Given the description of an element on the screen output the (x, y) to click on. 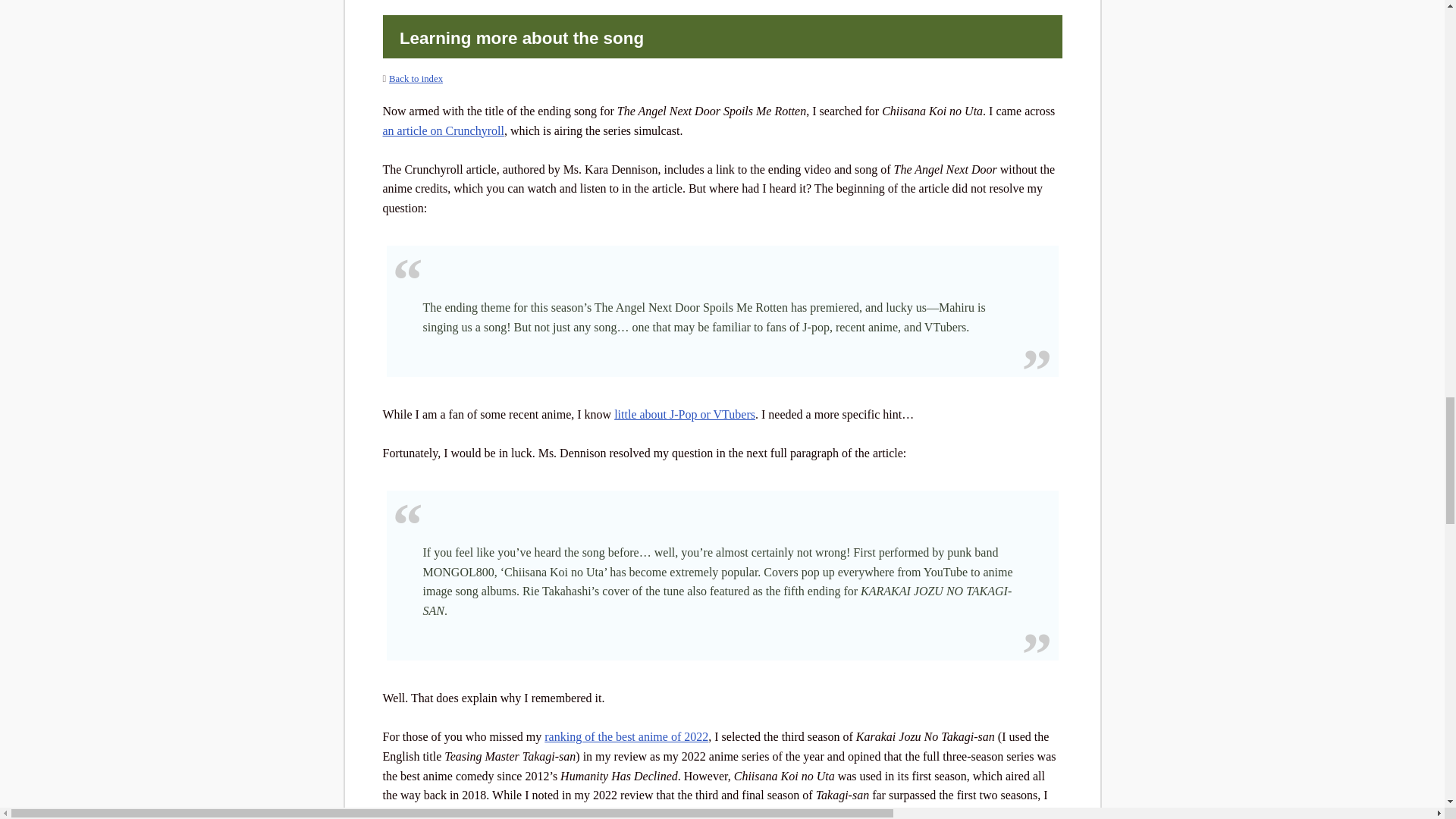
Back to index (415, 78)
